Given the description of an element on the screen output the (x, y) to click on. 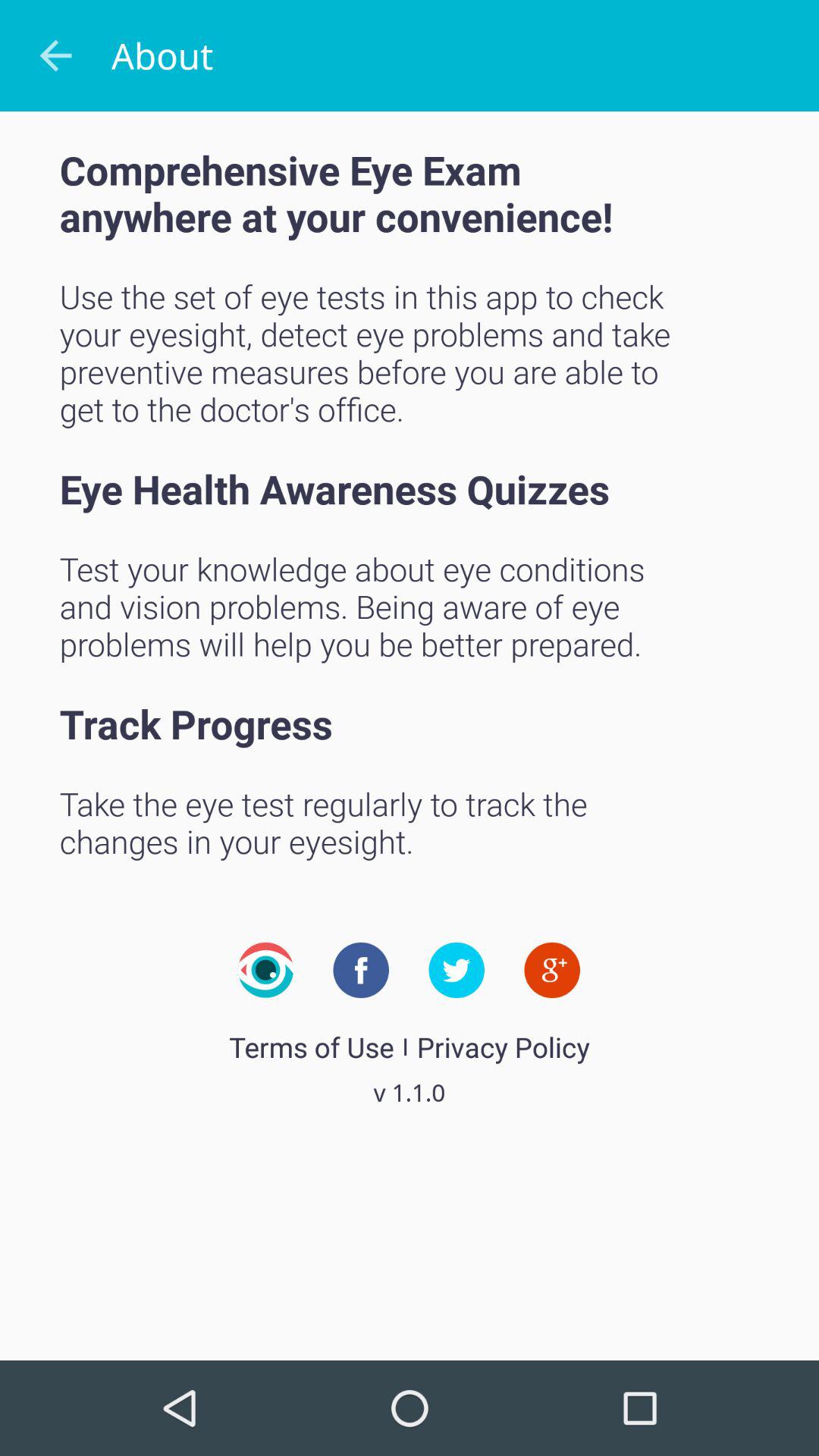
open icon on the right (552, 970)
